Given the description of an element on the screen output the (x, y) to click on. 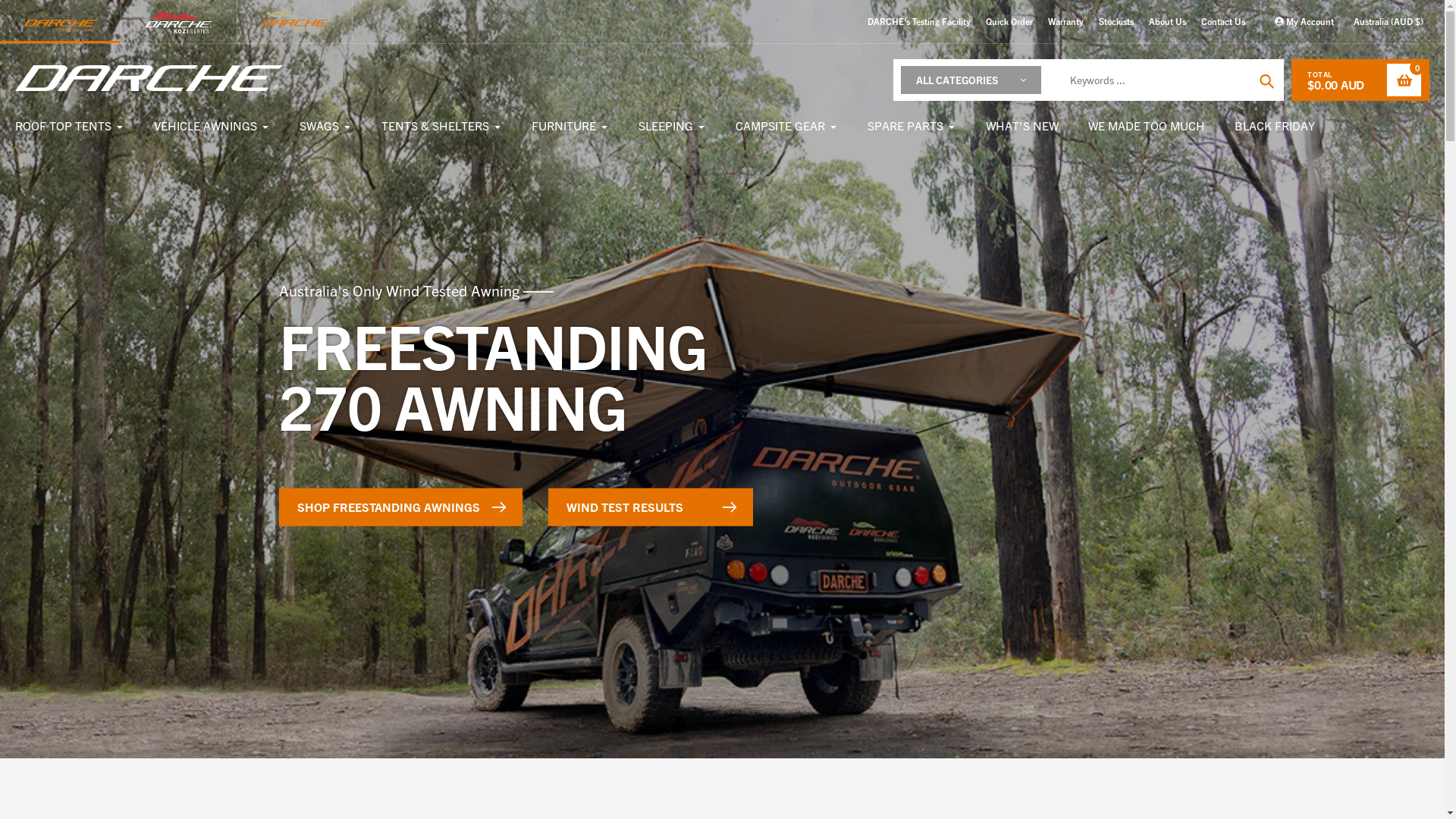
SPARE PARTS Element type: text (911, 125)
VEHICLE AWNINGS Element type: text (211, 125)
SHOP FREESTANDING AWNINGS Element type: text (400, 507)
Warranty Element type: text (1065, 21)
SWAGS Element type: text (325, 125)
ALL CATEGORIES Element type: text (970, 79)
SLEEPING Element type: text (672, 125)
ROOF TOP TENTS Element type: text (69, 125)
DARCHE's Testing Facility Element type: text (918, 21)
Quick Order Element type: text (1008, 21)
FURNITURE Element type: text (569, 125)
About Us Element type: text (1167, 21)
Australia (AUD $) Element type: text (1388, 21)
Stockists Element type: text (1115, 21)
TENTS & SHELTERS Element type: text (441, 125)
Contact Us Element type: text (1223, 21)
My Account Element type: text (1303, 21)
CAMPSITE GEAR Element type: text (786, 125)
0 Element type: text (1403, 79)
Search Element type: text (1266, 79)
BLACK FRIDAY Element type: text (1274, 125)
WIND TEST RESULTS Element type: text (649, 507)
WHAT'S NEW Element type: text (1021, 125)
WE MADE TOO MUCH Element type: text (1146, 125)
